Given the description of an element on the screen output the (x, y) to click on. 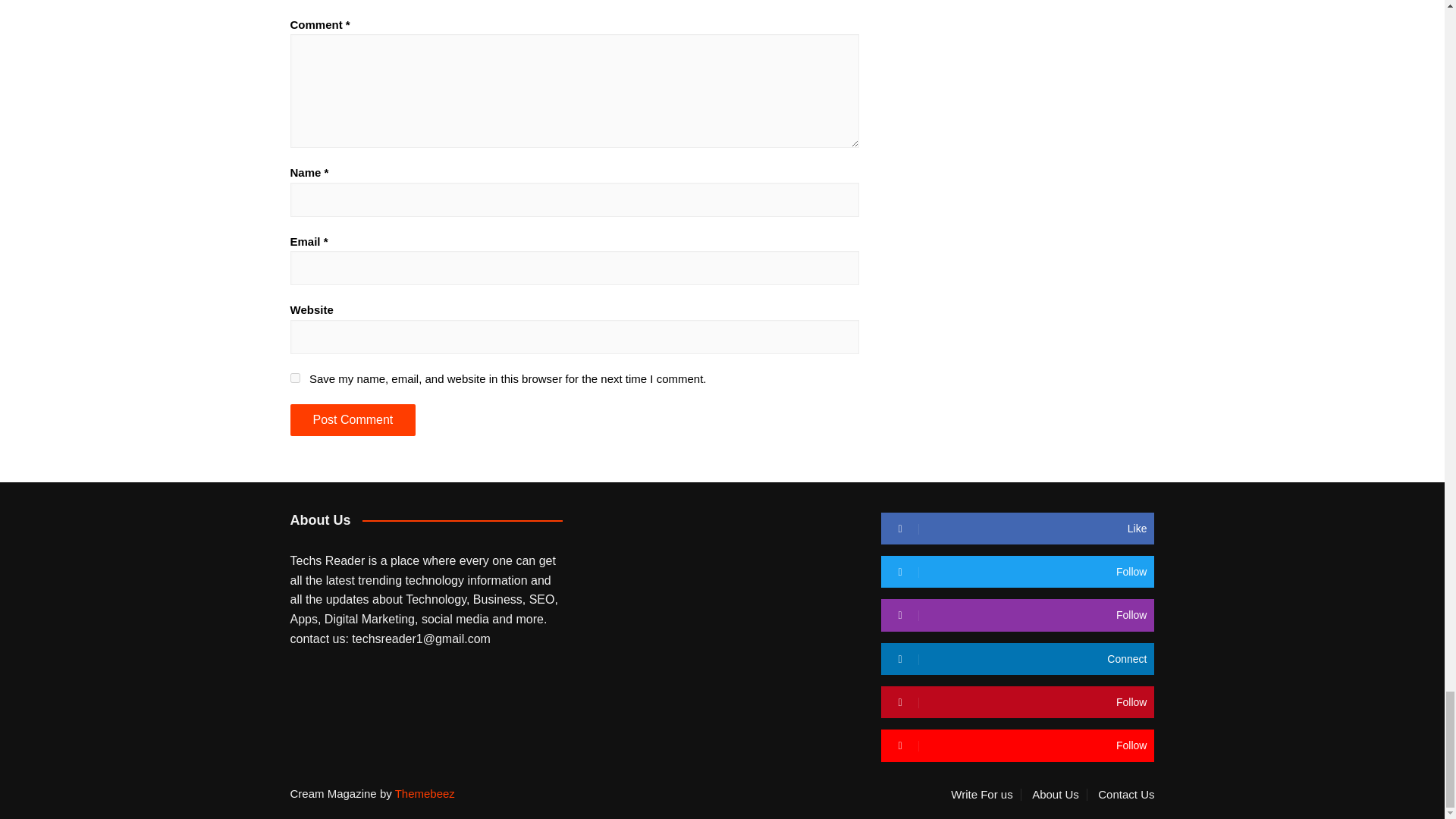
Post Comment (351, 419)
yes (294, 378)
Download This Theme (985, 794)
